Given the description of an element on the screen output the (x, y) to click on. 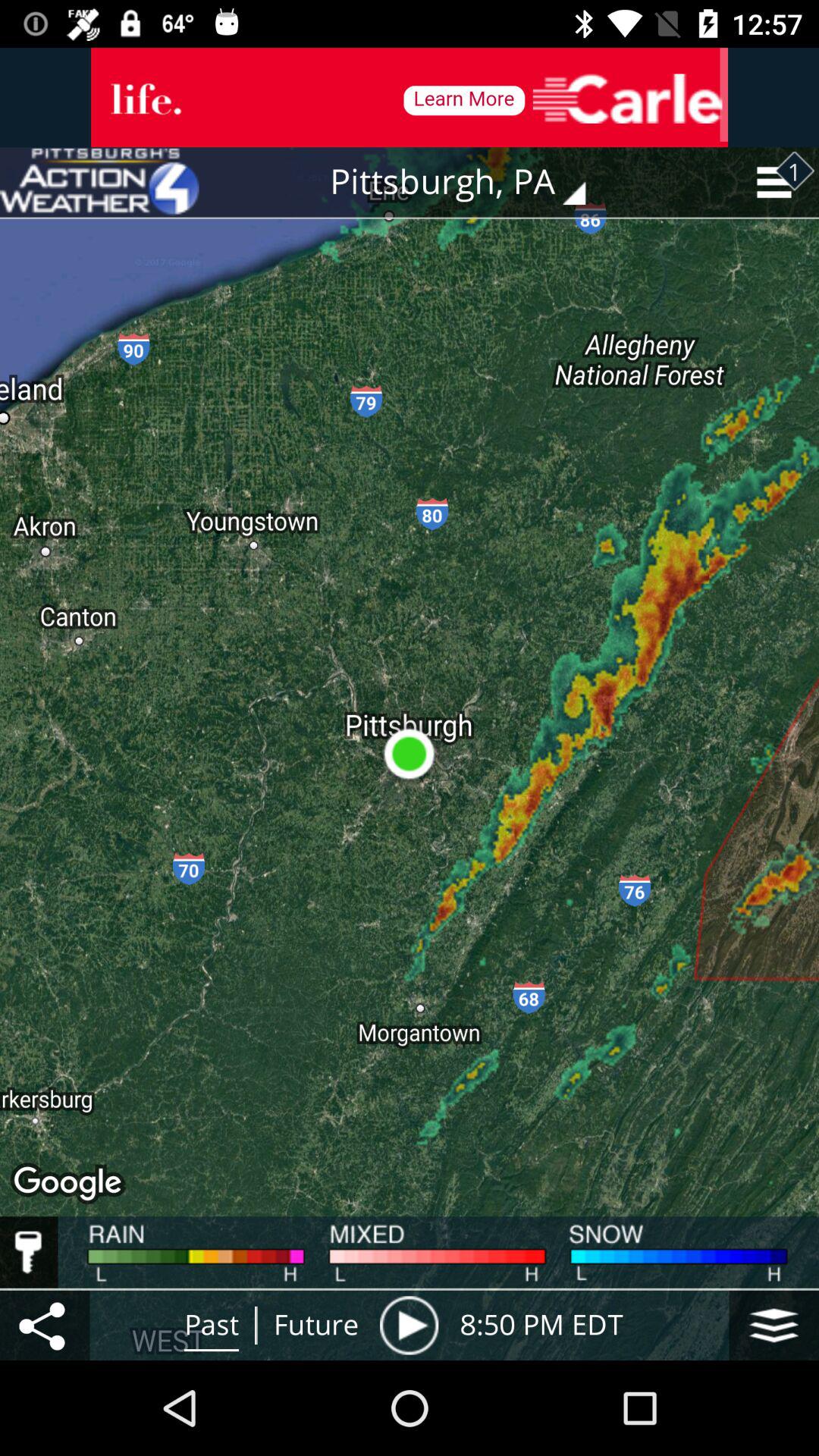
access password (29, 1252)
